Given the description of an element on the screen output the (x, y) to click on. 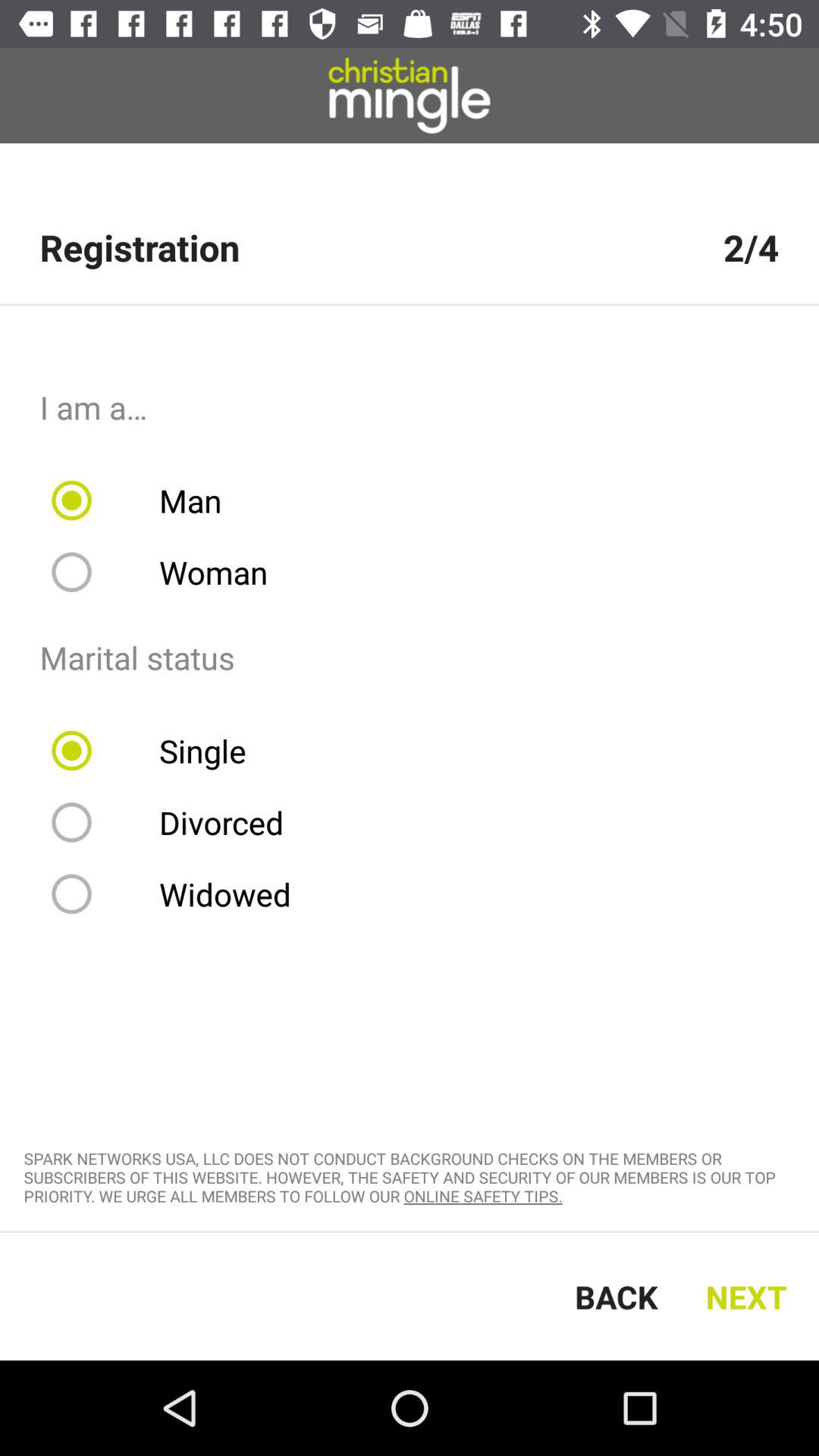
swipe until the widowed (181, 893)
